Given the description of an element on the screen output the (x, y) to click on. 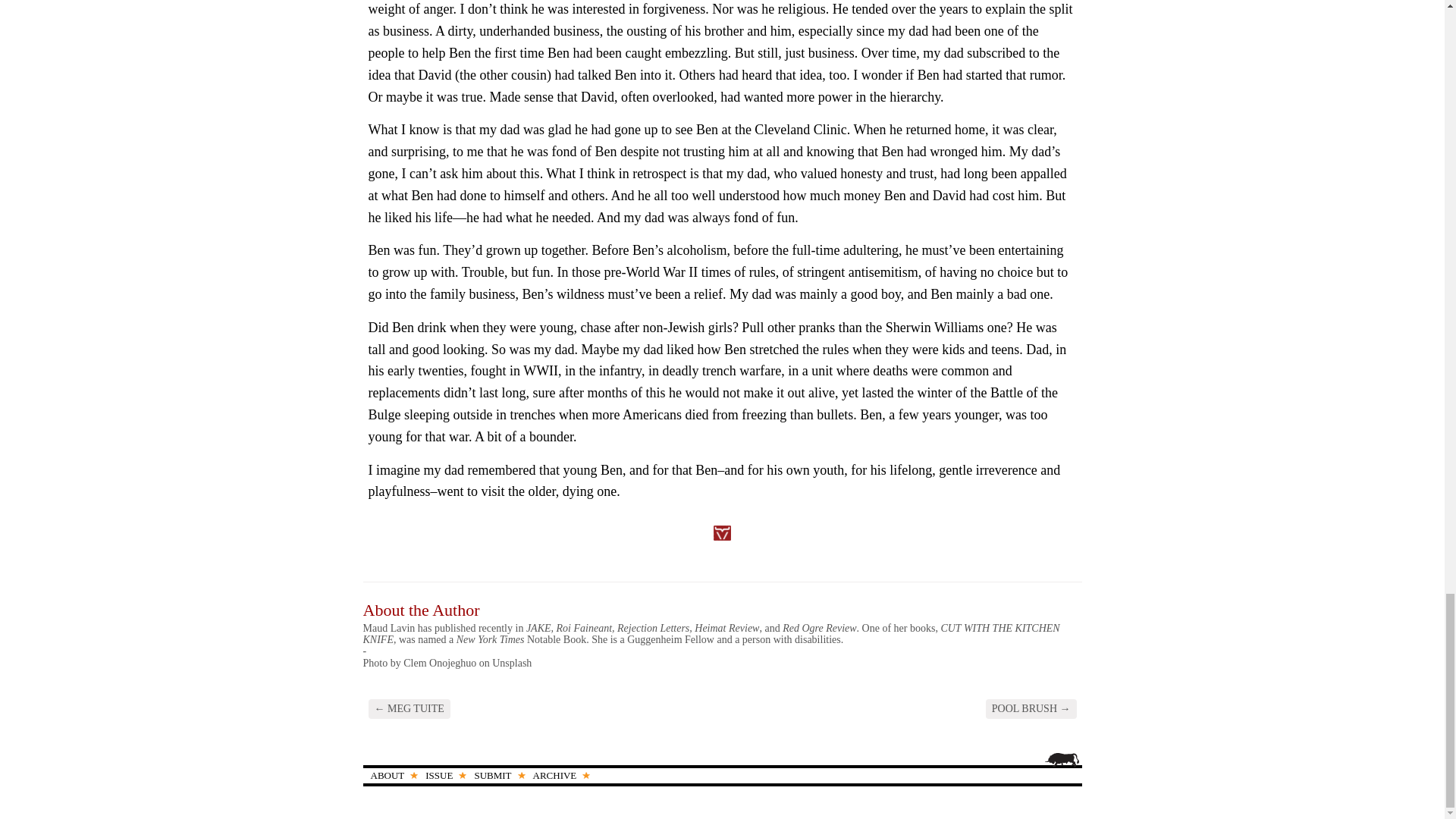
ARCHIVE (558, 775)
ISSUE (441, 775)
Unsplash (511, 663)
ABOUT (389, 775)
SUBMIT (494, 775)
Clem Onojeghuo (439, 663)
